Given the description of an element on the screen output the (x, y) to click on. 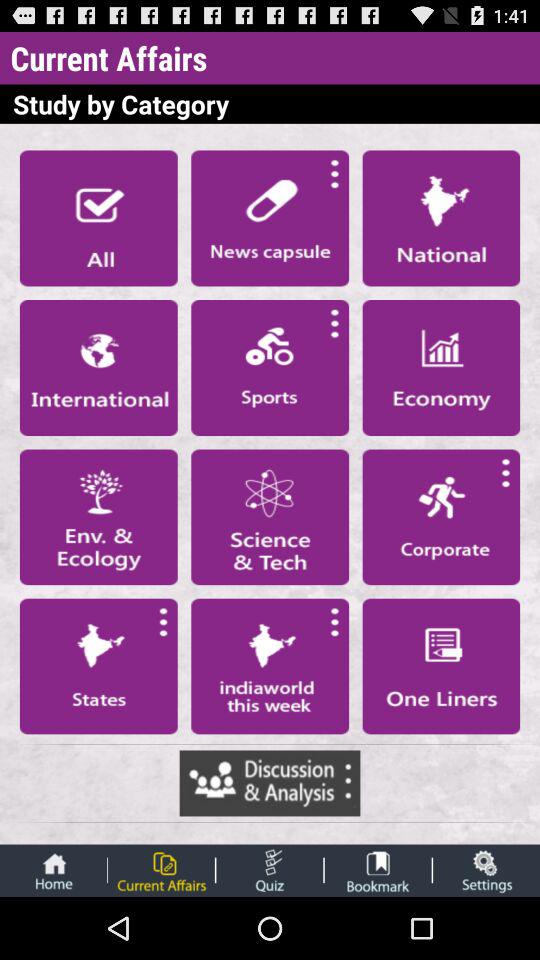
writing option (441, 666)
